Given the description of an element on the screen output the (x, y) to click on. 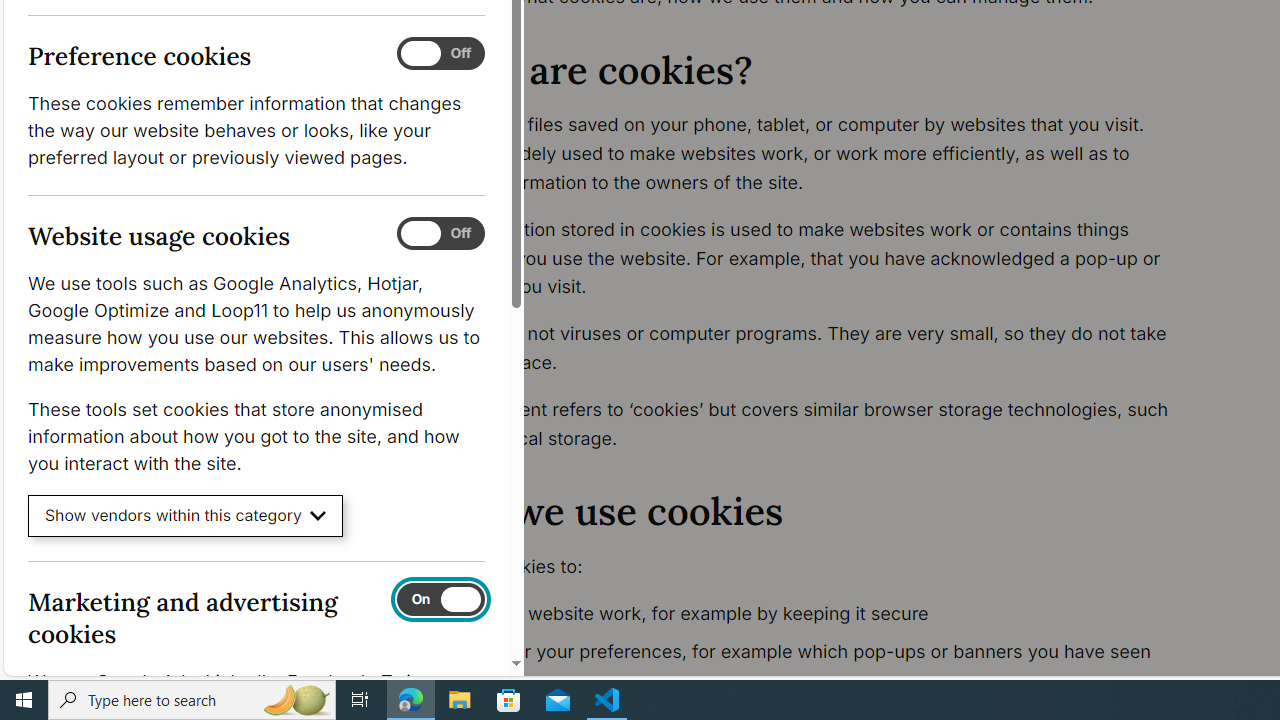
Preference cookies (440, 53)
Marketing and advertising cookies (440, 599)
make our website work, for example by keeping it secure (818, 614)
Show vendors within this category (185, 516)
Website usage cookies (440, 233)
